Given the description of an element on the screen output the (x, y) to click on. 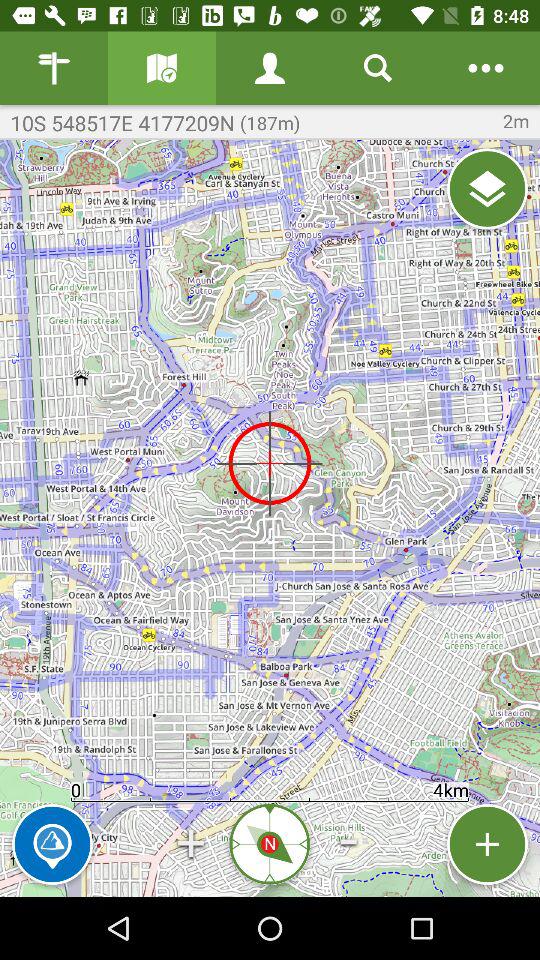
go to location (487, 188)
